Given the description of an element on the screen output the (x, y) to click on. 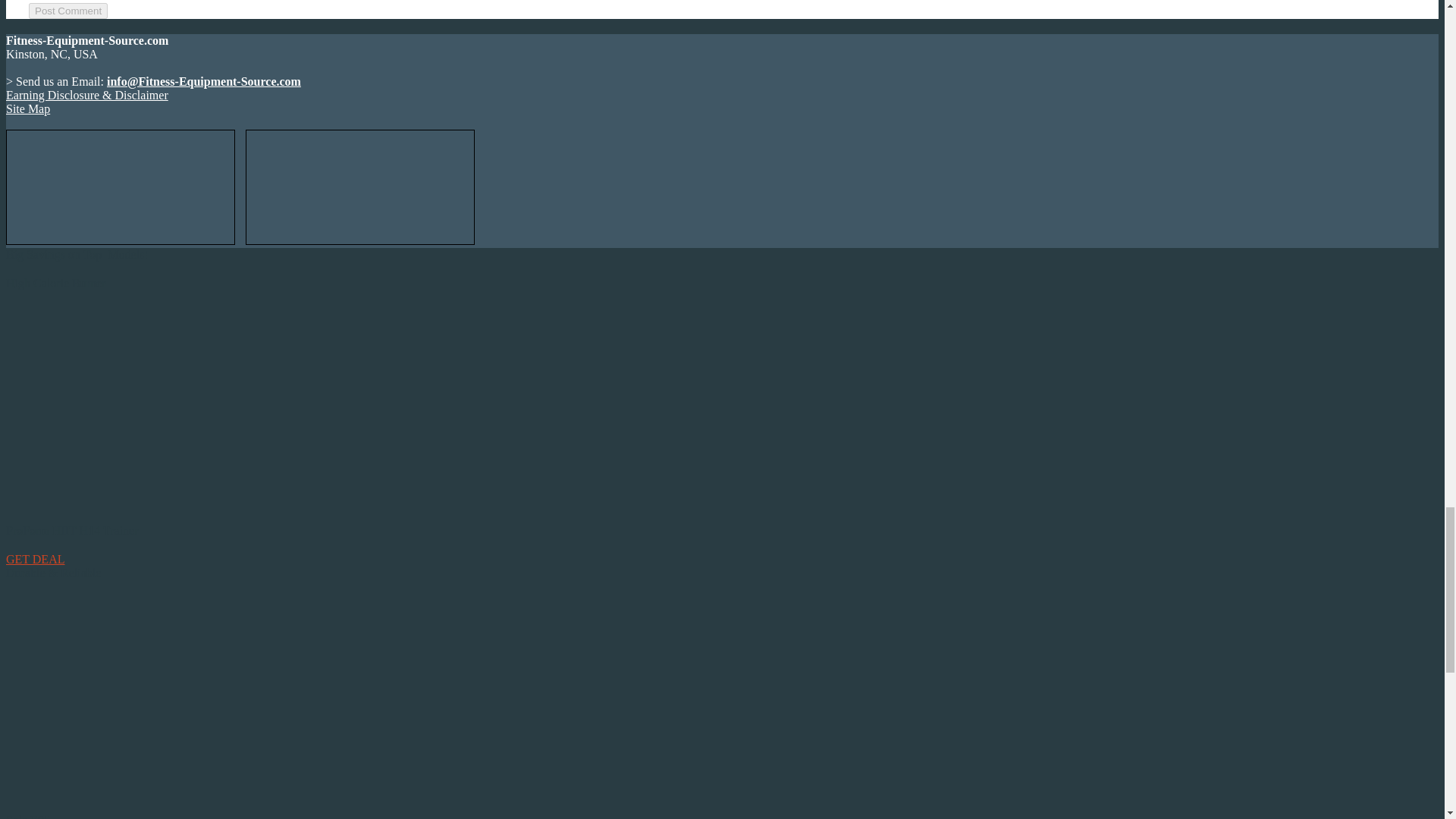
Post Comment (68, 10)
Post Comment (68, 10)
